Given the description of an element on the screen output the (x, y) to click on. 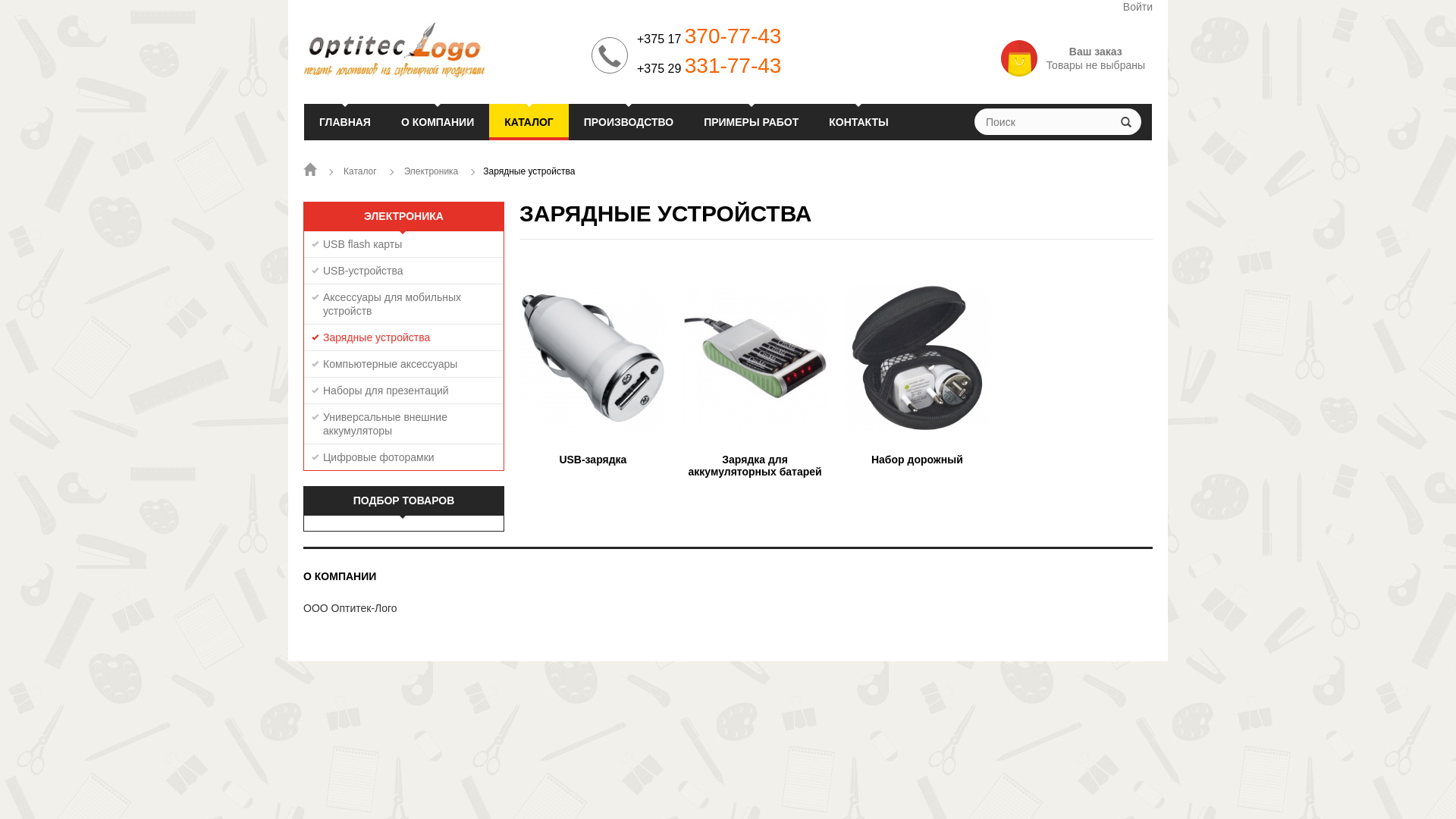
Stationery store Element type: hover (439, 49)
